Given the description of an element on the screen output the (x, y) to click on. 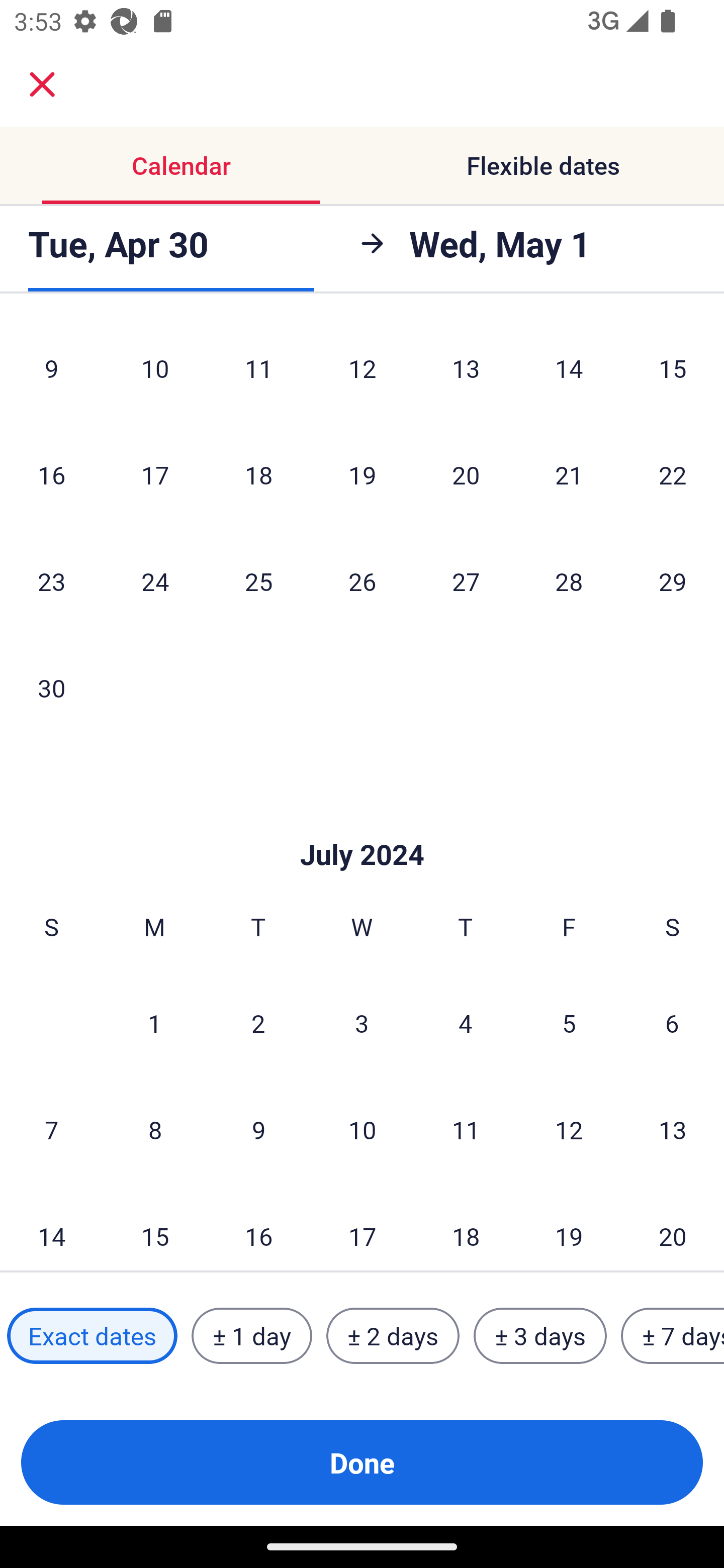
close. (42, 84)
Flexible dates (542, 164)
9 Sunday, June 9, 2024 (51, 370)
10 Monday, June 10, 2024 (155, 370)
11 Tuesday, June 11, 2024 (258, 370)
12 Wednesday, June 12, 2024 (362, 370)
13 Thursday, June 13, 2024 (465, 370)
14 Friday, June 14, 2024 (569, 370)
15 Saturday, June 15, 2024 (672, 370)
16 Sunday, June 16, 2024 (51, 474)
17 Monday, June 17, 2024 (155, 474)
18 Tuesday, June 18, 2024 (258, 474)
19 Wednesday, June 19, 2024 (362, 474)
20 Thursday, June 20, 2024 (465, 474)
21 Friday, June 21, 2024 (569, 474)
22 Saturday, June 22, 2024 (672, 474)
23 Sunday, June 23, 2024 (51, 581)
24 Monday, June 24, 2024 (155, 581)
25 Tuesday, June 25, 2024 (258, 581)
26 Wednesday, June 26, 2024 (362, 581)
27 Thursday, June 27, 2024 (465, 581)
28 Friday, June 28, 2024 (569, 581)
29 Saturday, June 29, 2024 (672, 581)
30 Sunday, June 30, 2024 (51, 687)
Skip to Done (362, 824)
1 Monday, July 1, 2024 (154, 1023)
2 Tuesday, July 2, 2024 (257, 1023)
3 Wednesday, July 3, 2024 (361, 1023)
4 Thursday, July 4, 2024 (465, 1023)
5 Friday, July 5, 2024 (568, 1023)
6 Saturday, July 6, 2024 (672, 1023)
7 Sunday, July 7, 2024 (51, 1129)
8 Monday, July 8, 2024 (155, 1129)
9 Tuesday, July 9, 2024 (258, 1129)
10 Wednesday, July 10, 2024 (362, 1129)
11 Thursday, July 11, 2024 (465, 1129)
12 Friday, July 12, 2024 (569, 1129)
13 Saturday, July 13, 2024 (672, 1129)
14 Sunday, July 14, 2024 (51, 1226)
15 Monday, July 15, 2024 (155, 1226)
16 Tuesday, July 16, 2024 (258, 1226)
17 Wednesday, July 17, 2024 (362, 1226)
18 Thursday, July 18, 2024 (465, 1226)
19 Friday, July 19, 2024 (569, 1226)
20 Saturday, July 20, 2024 (672, 1226)
Exact dates (92, 1335)
± 1 day (251, 1335)
± 2 days (392, 1335)
± 3 days (539, 1335)
± 7 days (672, 1335)
Done (361, 1462)
